Given the description of an element on the screen output the (x, y) to click on. 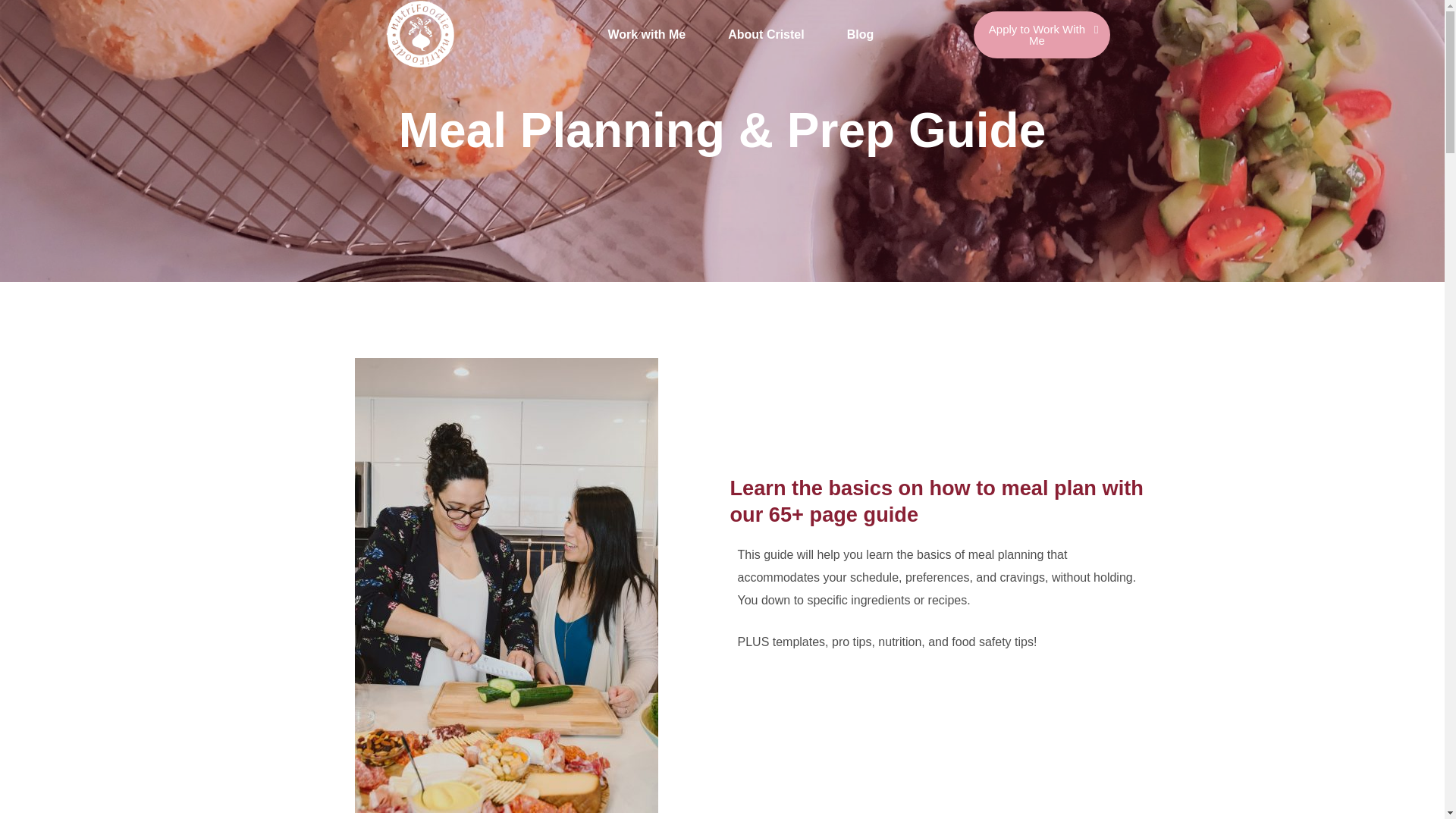
About Cristel (765, 34)
Work with Me (646, 34)
Blog (860, 34)
Apply to Work With Me (1041, 33)
